Given the description of an element on the screen output the (x, y) to click on. 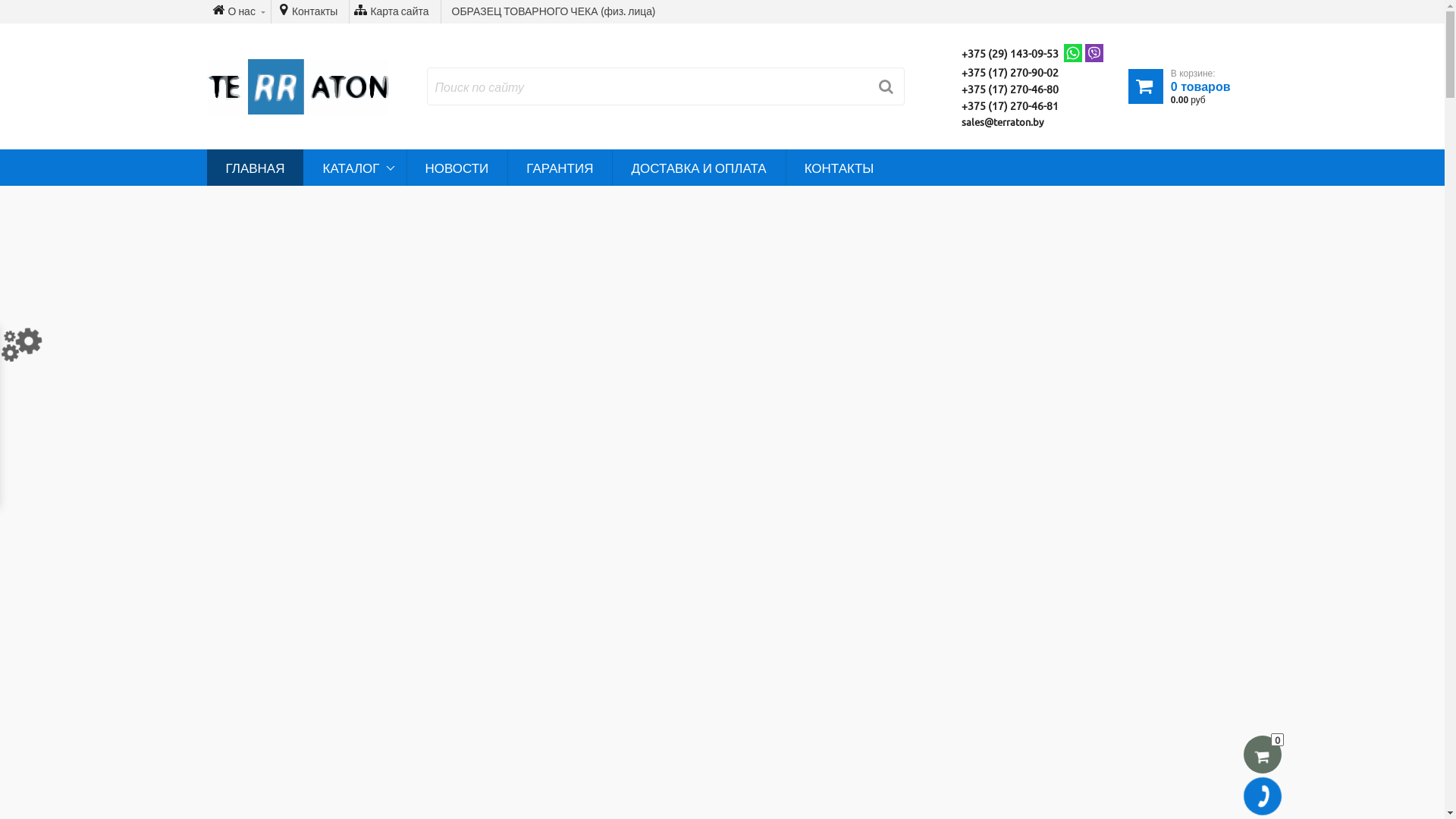
+375 (17) 270-46-81 Element type: text (1011, 105)
+375 (29) 143-09-53 Element type: text (1011, 52)
sales@terraton.by Element type: text (1004, 121)
+375 (17) 270-46-80 Element type: text (1011, 88)
0 Element type: text (1262, 754)
+375 (17) 270-90-02 Element type: text (1011, 71)
